Given the description of an element on the screen output the (x, y) to click on. 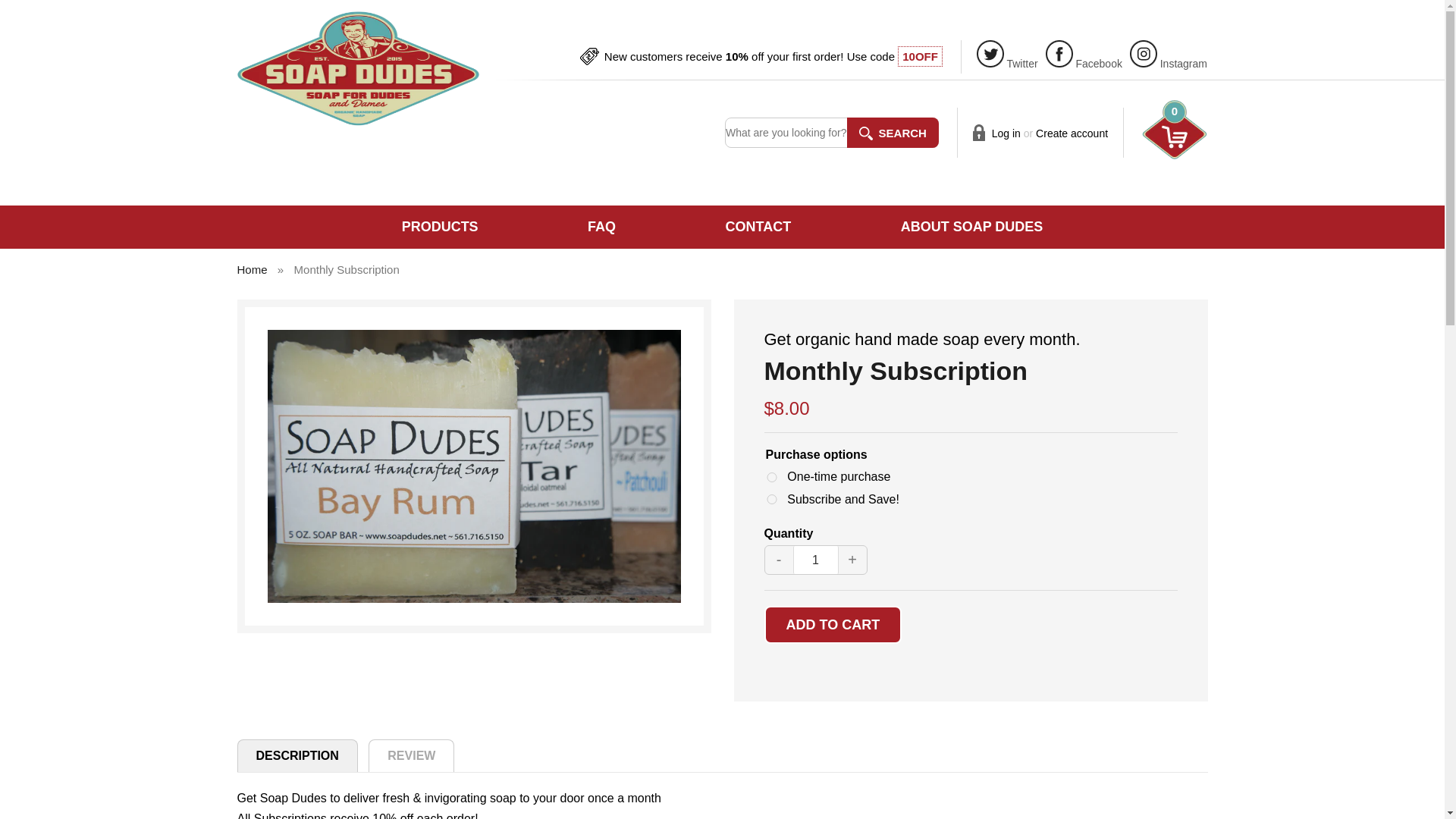
1 (815, 560)
Log in (1005, 133)
Soap Dudes on Twitter (1007, 63)
PRODUCTS (466, 226)
Home (252, 269)
ABOUT SOAP DUDES (945, 226)
Soap Dudes on Instagram (1168, 63)
Soap Dudes on Facebook (1083, 63)
0e0516871dfe6e674671489155be27d685ed5a22 (771, 499)
Create account (1071, 133)
Facebook (1083, 63)
CONTACT (758, 226)
SEARCH (893, 132)
FAQ (601, 226)
Instagram (1168, 63)
